Given the description of an element on the screen output the (x, y) to click on. 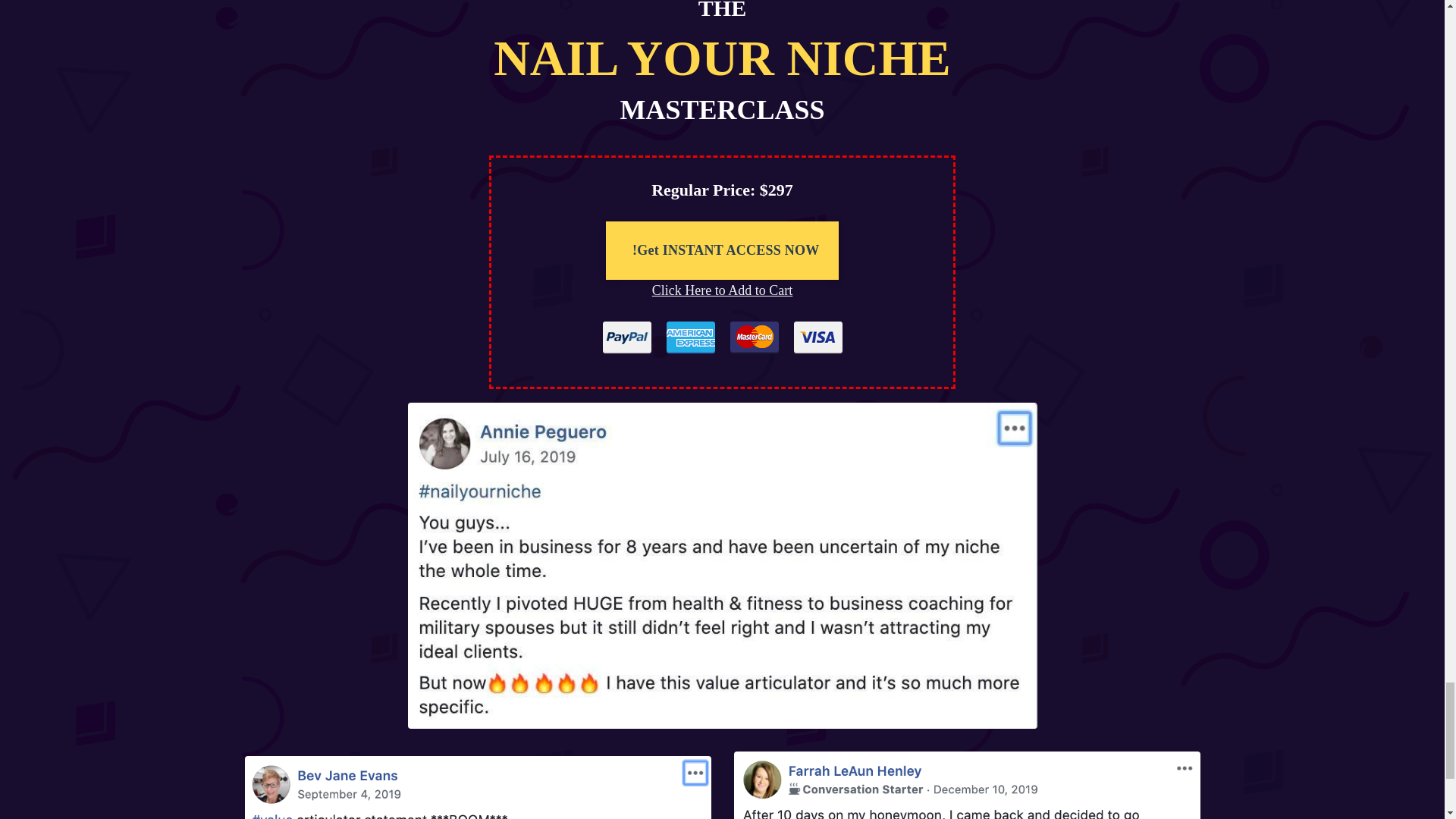
Get INSTANT ACCESS NOW!   (721, 250)
Get INSTANT ACCESS NOW! (725, 249)
Click Here to Add to Cart (722, 290)
